Given the description of an element on the screen output the (x, y) to click on. 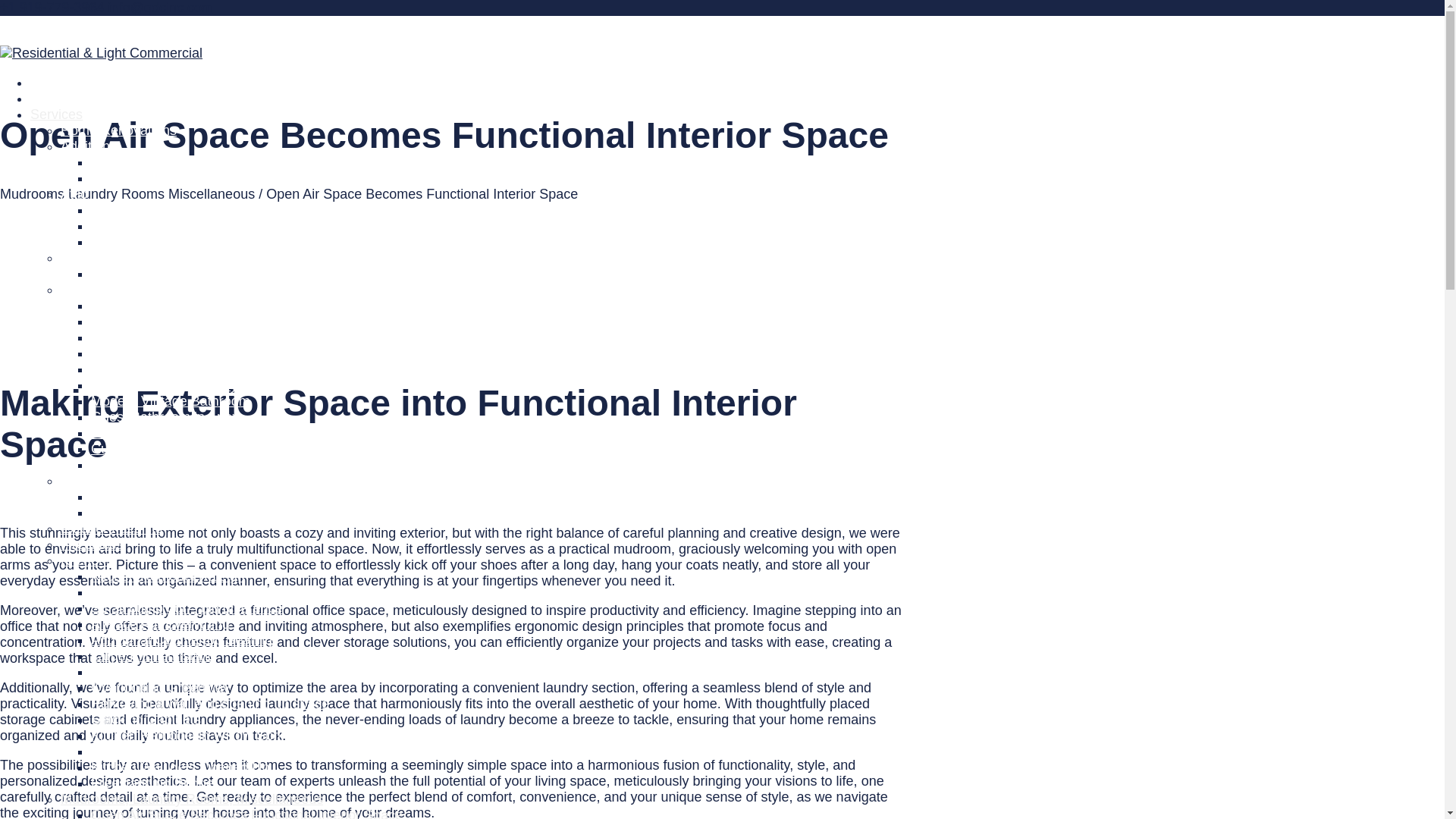
Finishing off an unfinished Attic Space for Guests (239, 225)
Commercial Projects (123, 480)
Sorority House Bathrooms (170, 512)
Fireplaces (92, 544)
Accessible Bathroom with universal design (219, 321)
Guest Bathroom In Stonehenge (186, 432)
Raising the Ceiling (147, 671)
Attic Remodel for Guests and Quilting (204, 241)
About Us (57, 98)
Two Story Addition (146, 161)
Farmhouse Chic (140, 591)
Modern Vintage Bathroom (170, 400)
Basements (95, 257)
Catering Kitchen Fit For Board Of Directors (221, 496)
Zero Step Guest Bathroom in Cary (195, 368)
